Given the description of an element on the screen output the (x, y) to click on. 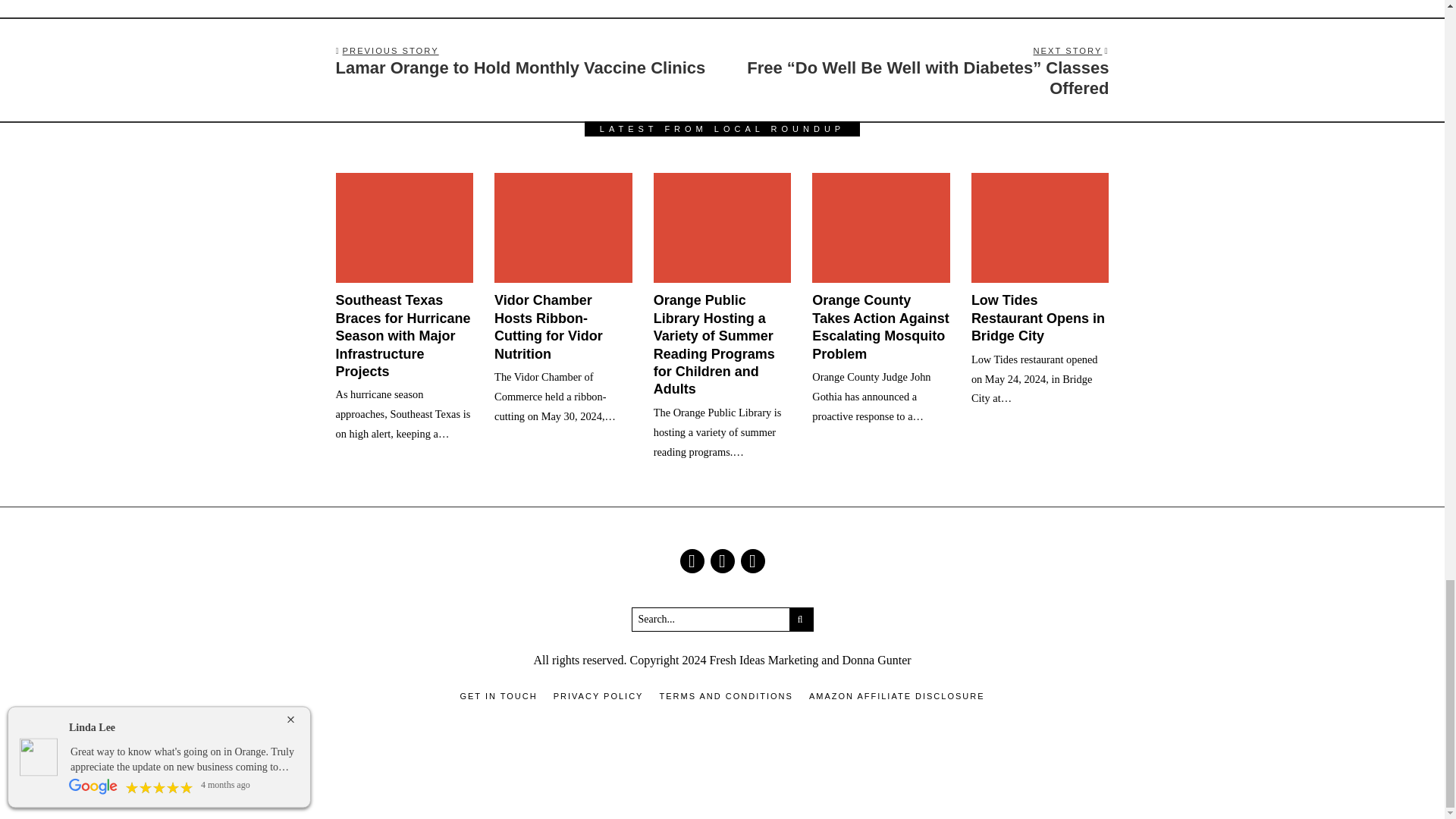
Instagram (721, 560)
Facebook (691, 560)
